Given the description of an element on the screen output the (x, y) to click on. 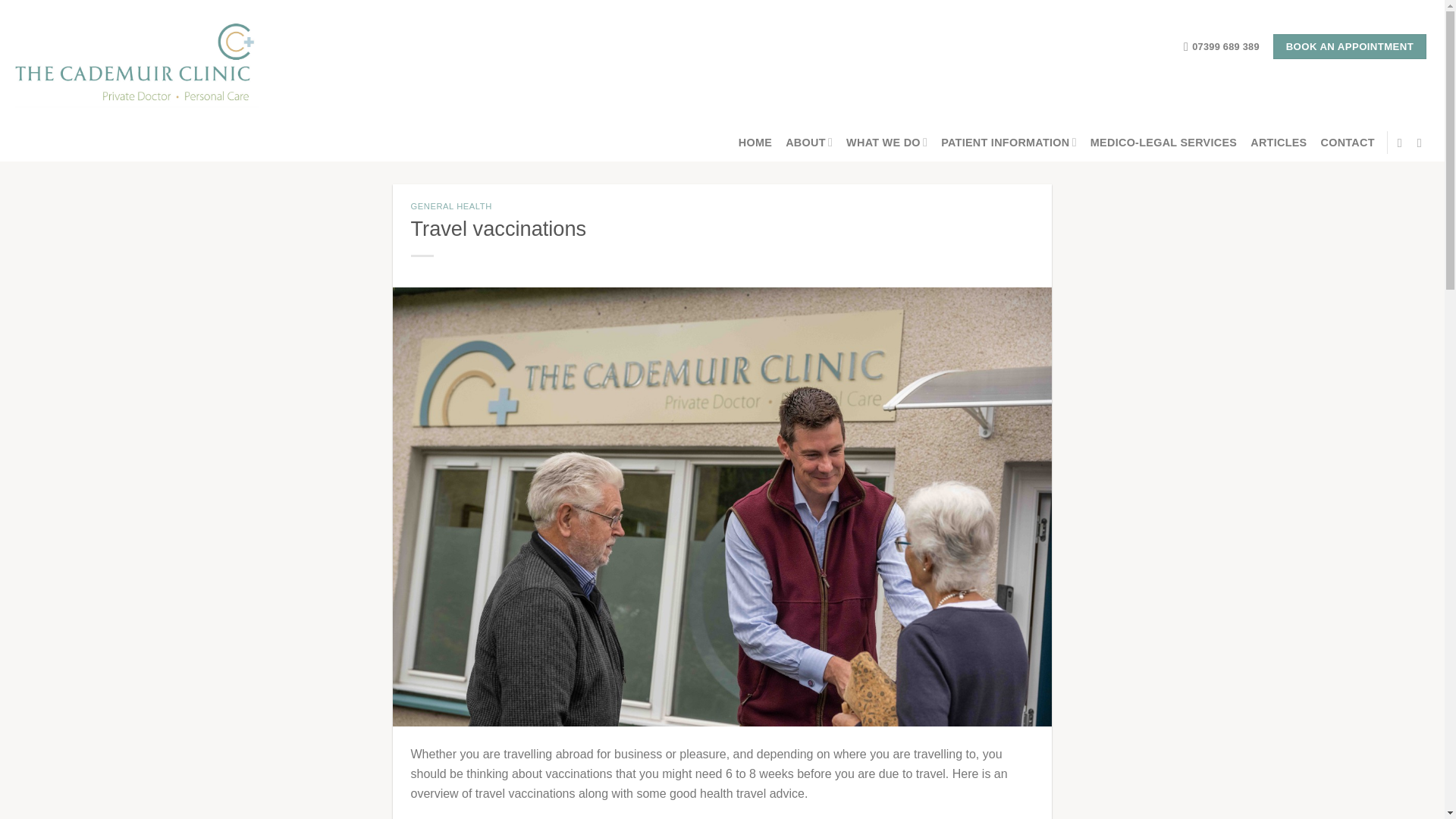
MEDICO-LEGAL SERVICES (1163, 142)
07399 689 389 (1221, 46)
07399 689 389 (1221, 46)
ARTICLES (1278, 142)
WHAT WE DO (886, 142)
PATIENT INFORMATION (1008, 142)
ABOUT (809, 142)
BOOK AN APPOINTMENT (1349, 46)
CONTACT (1347, 142)
